Given the description of an element on the screen output the (x, y) to click on. 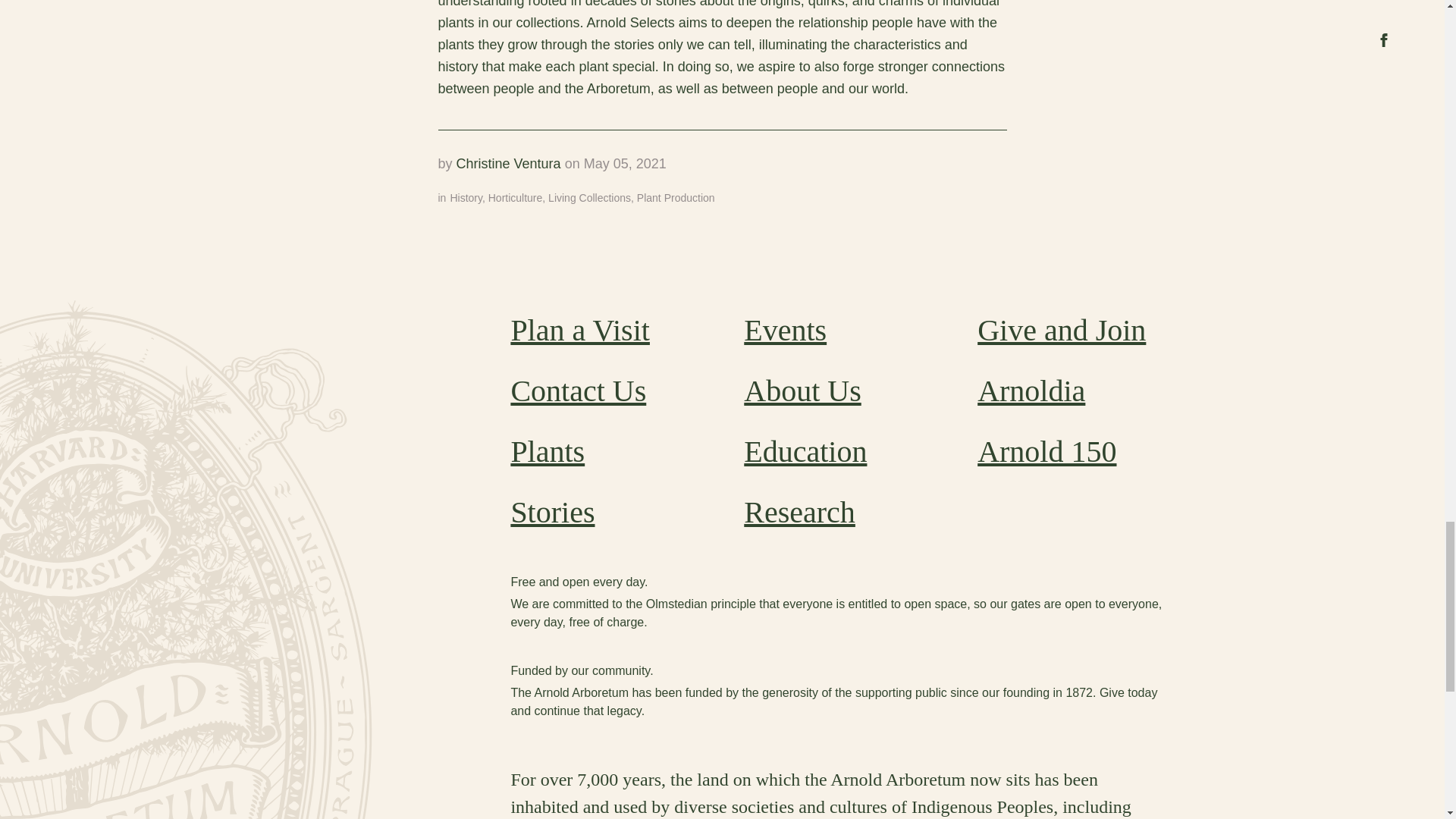
Christine Ventura (508, 163)
Horticulture, (517, 197)
Plant Production (675, 197)
Living Collections, (592, 197)
History, (468, 197)
